Given the description of an element on the screen output the (x, y) to click on. 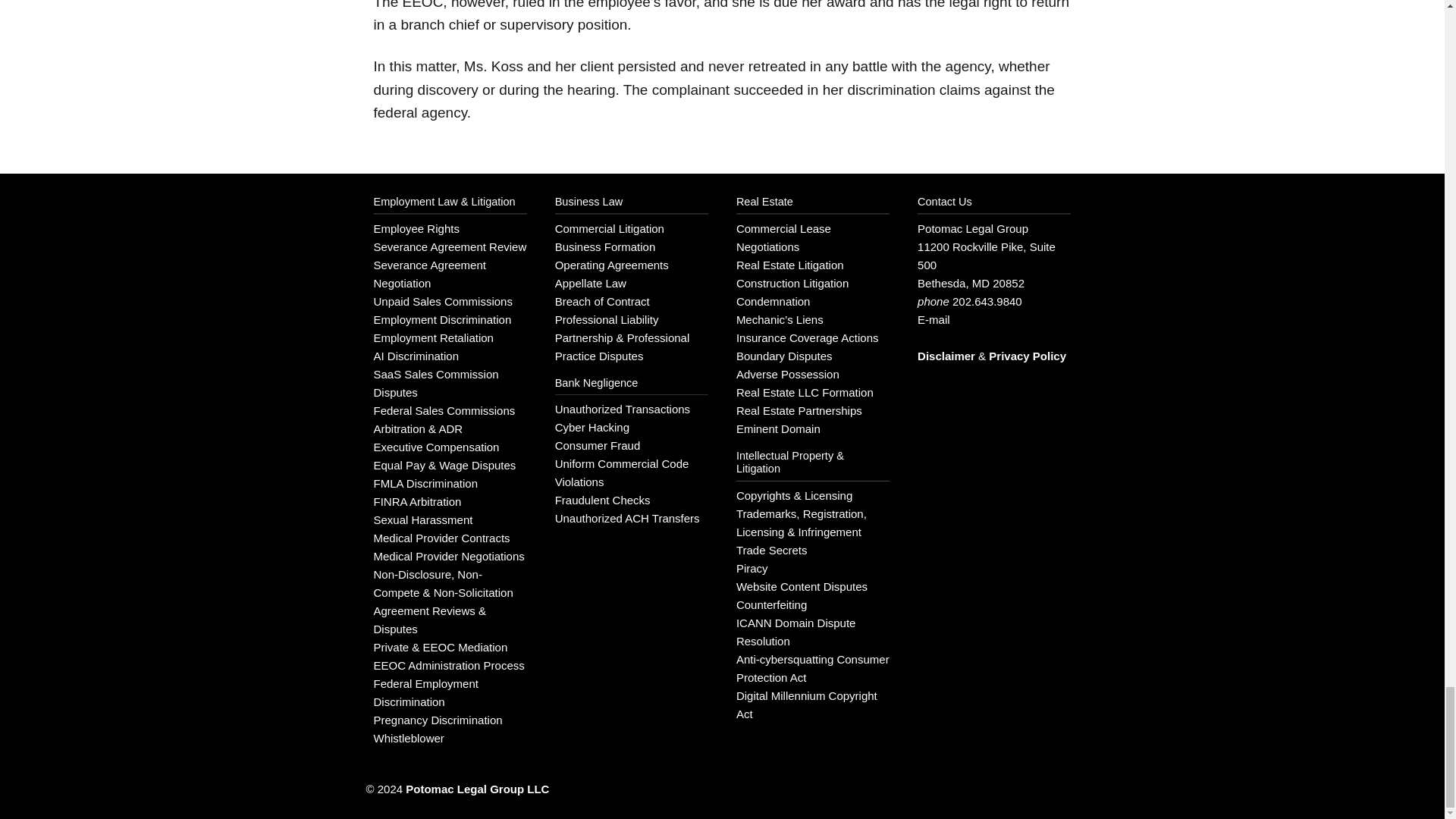
Disclaimer (946, 355)
Privacy Policy (1026, 355)
E-mail (933, 318)
